Given the description of an element on the screen output the (x, y) to click on. 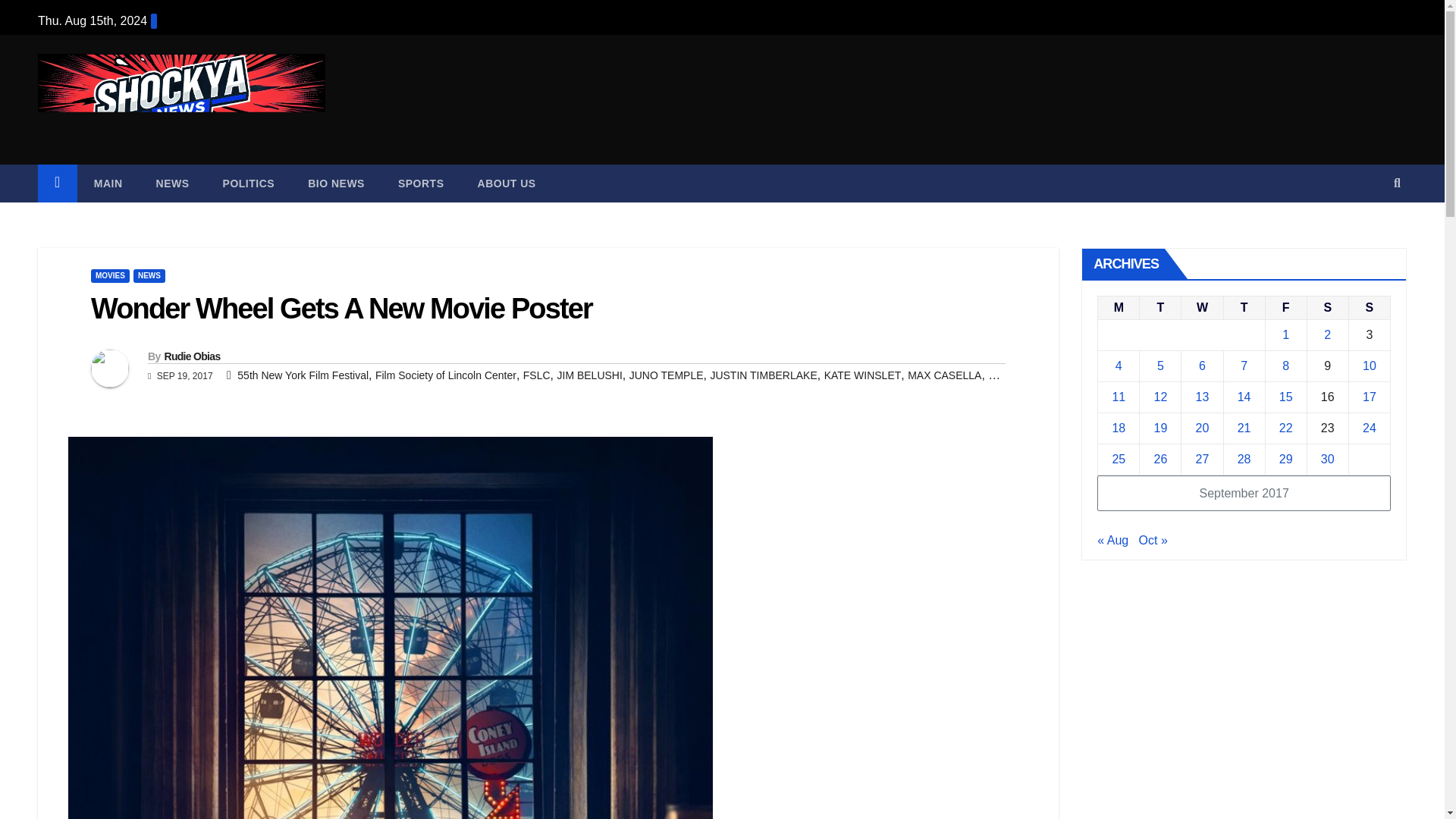
Film Society of Lincoln Center (445, 375)
Wonder Wheel Gets A New Movie Poster (341, 308)
Tuesday (1160, 307)
MAX CASELLA (944, 375)
NEWS (149, 275)
POLITICS (249, 183)
Thursday (1244, 307)
SPORTS (421, 183)
Monday (1118, 307)
ABOUT US (507, 183)
